Given the description of an element on the screen output the (x, y) to click on. 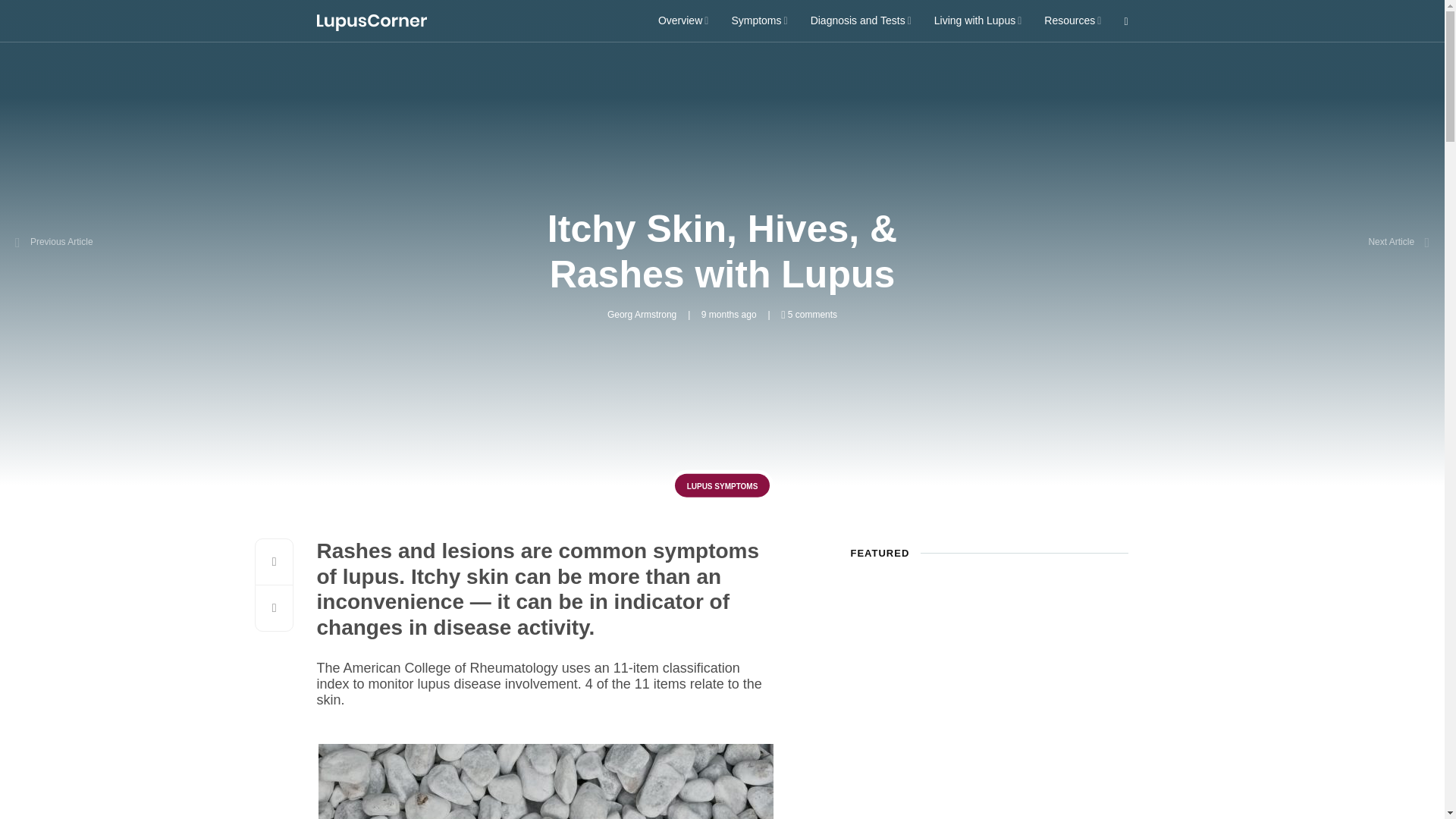
Living with Lupus (978, 20)
Symptoms (758, 20)
LUPUS SYMPTOMS (722, 484)
Resources (1071, 20)
Overview (682, 20)
Diagnosis and Tests (860, 20)
